Given the description of an element on the screen output the (x, y) to click on. 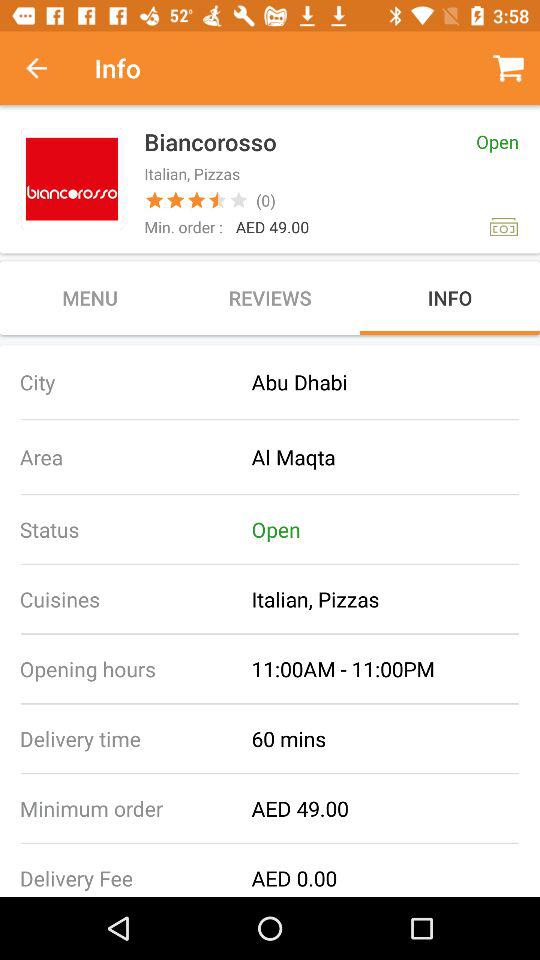
press the item next to the area item (395, 456)
